Given the description of an element on the screen output the (x, y) to click on. 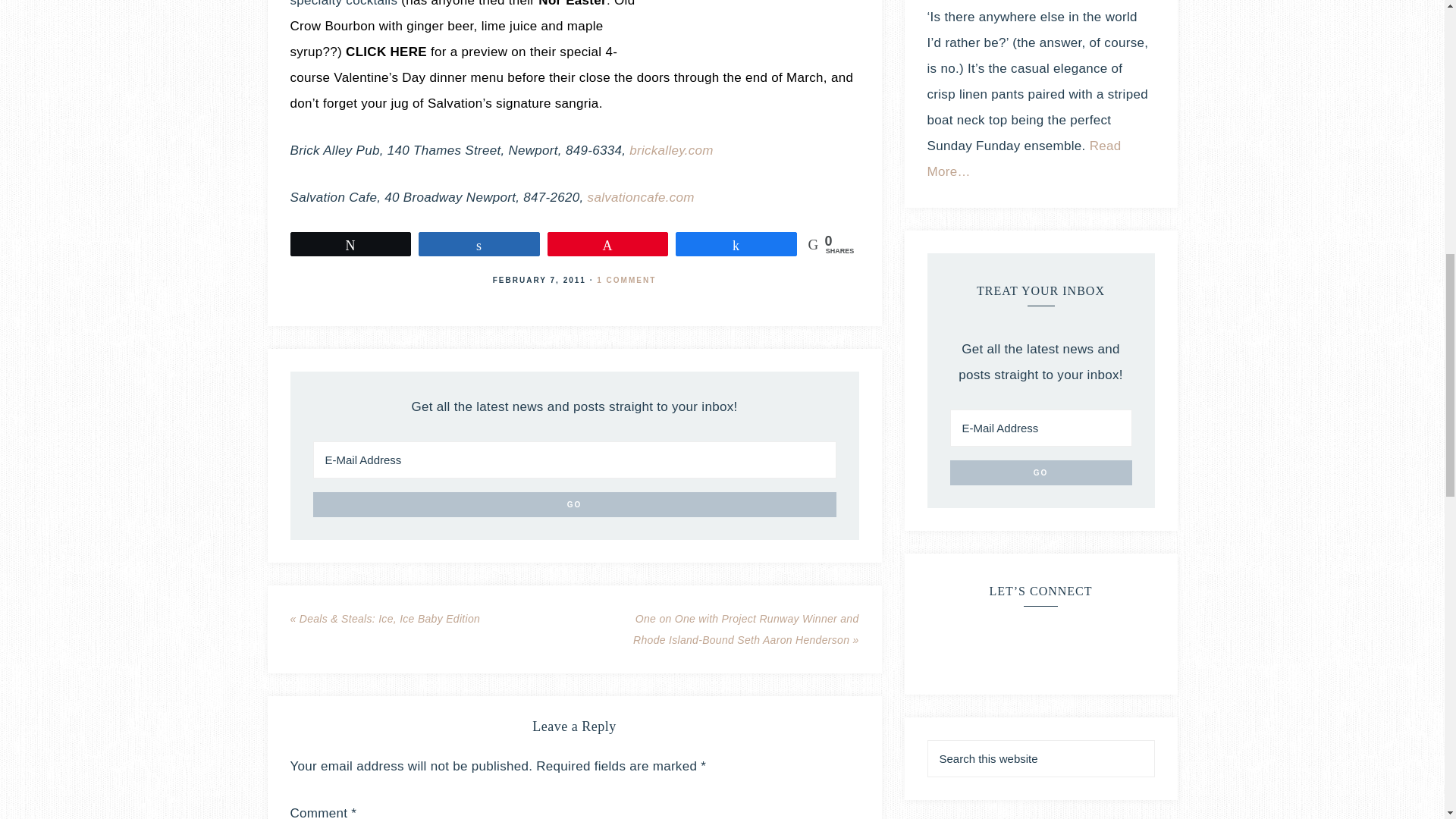
Go (574, 504)
salvationcafe.com (641, 197)
Go (1040, 472)
Go (574, 504)
CLICK HERE (386, 51)
1 COMMENT (626, 280)
brickalley.com (670, 150)
Go (1040, 472)
